Given the description of an element on the screen output the (x, y) to click on. 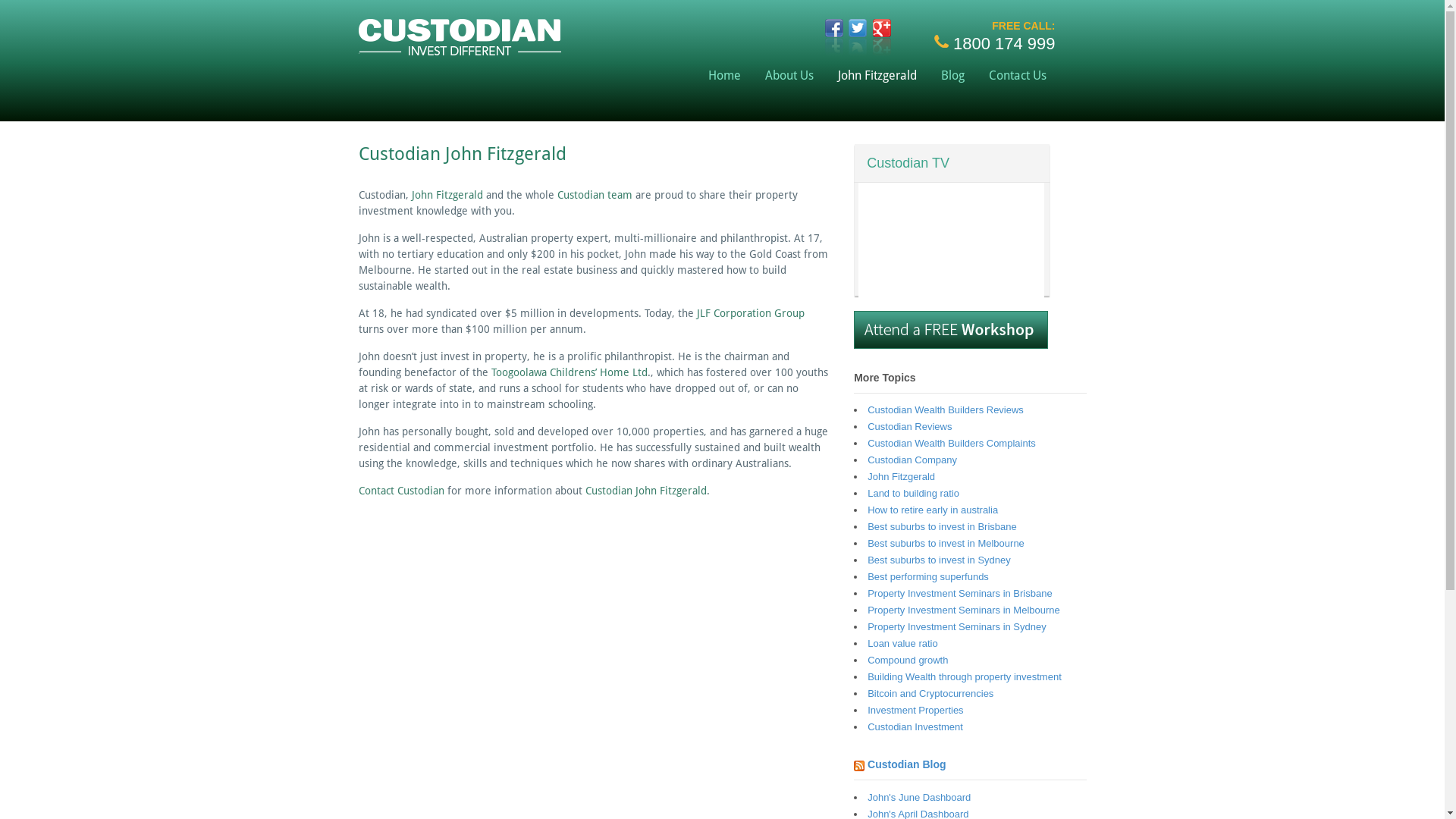
Property Investment Seminars in Melbourne Element type: text (963, 609)
Custodian Wealth Builders Complaints Element type: text (951, 442)
Building Wealth through property investment Element type: text (964, 676)
Custodian Blog Element type: text (906, 764)
Compound growth Element type: text (907, 659)
Custodian Company Element type: text (912, 459)
John Fitzgerald Element type: text (446, 194)
Custodian Investment Element type: text (915, 726)
About Us Element type: text (789, 75)
John's June Dashboard Element type: text (918, 797)
John Fitzgerald Element type: text (901, 476)
Home Element type: text (724, 75)
JLF Corporation Group Element type: text (749, 313)
Investment Properties Element type: text (915, 709)
Blog Element type: text (952, 75)
Invest In Property Element type: hover (458, 48)
Best suburbs to invest in Brisbane Element type: text (941, 526)
Land to building ratio Element type: text (913, 492)
How to retire early in australia Element type: text (932, 509)
Bitcoin and Cryptocurrencies Element type: text (930, 693)
Contact Custodian Element type: text (400, 490)
Best performing superfunds Element type: text (927, 576)
Custodian team Element type: text (593, 194)
Custodian John Fitzgerald Element type: text (645, 490)
Custodian Reviews Element type: text (909, 426)
Best suburbs to invest in Melbourne Element type: text (945, 543)
Loan value ratio Element type: text (902, 643)
Contact Us Element type: text (1017, 75)
Custodian Wealth Builders Reviews Element type: text (945, 409)
John Fitzgerald Element type: text (876, 75)
Best suburbs to invest in Sydney Element type: text (938, 559)
Property Investment Seminars in Brisbane Element type: text (959, 593)
Property Investment Seminars in Sydney Element type: text (956, 626)
